Given the description of an element on the screen output the (x, y) to click on. 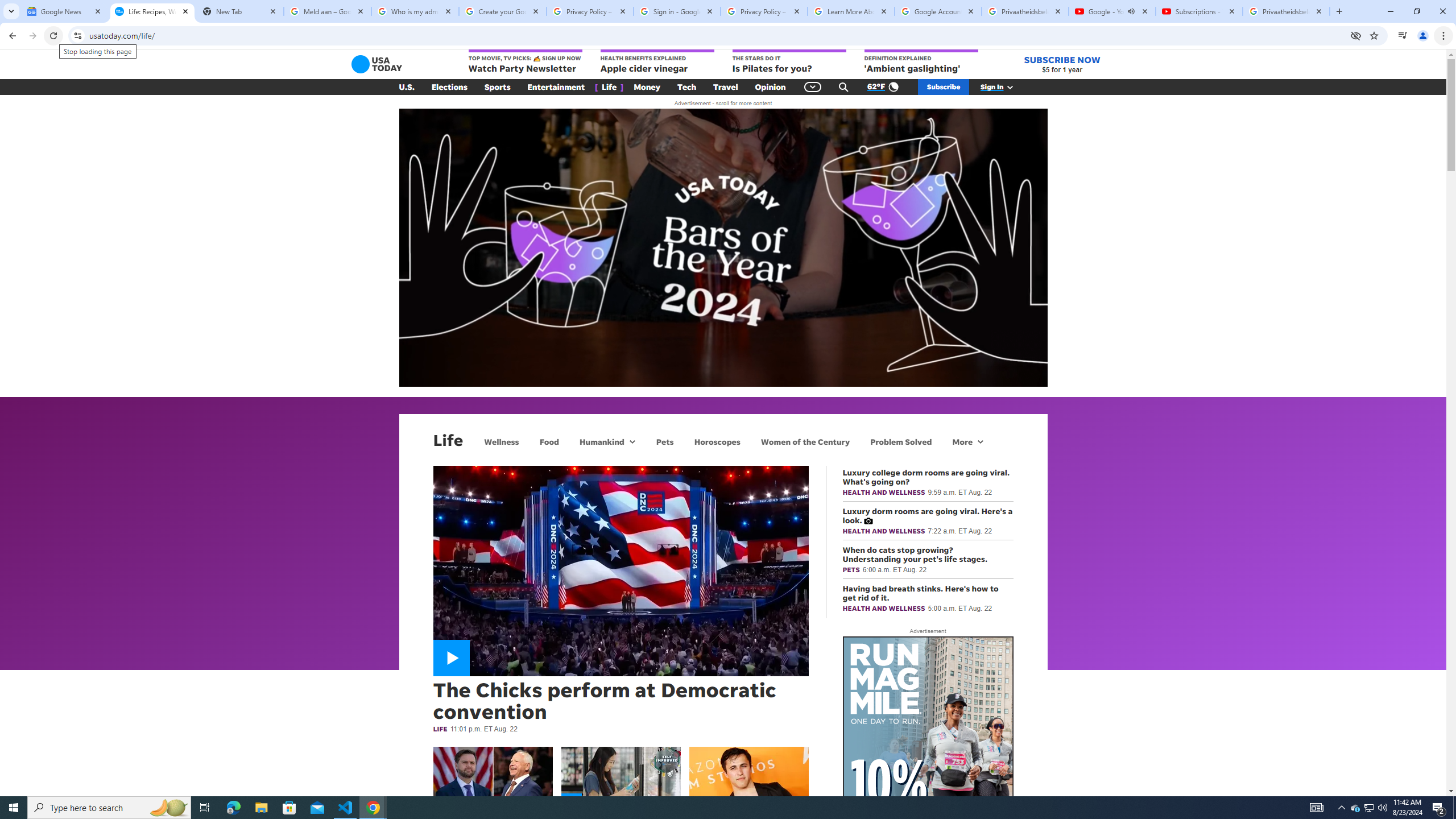
Sign In (1002, 87)
Humankind (600, 441)
Who is my administrator? - Google Account Help (415, 11)
Control your music, videos, and more (1402, 35)
Create your Google Account (502, 11)
Life: Recipes, Wellness & Horoscopes - USA TODAY (151, 11)
More Humankind navigation (631, 441)
